Given the description of an element on the screen output the (x, y) to click on. 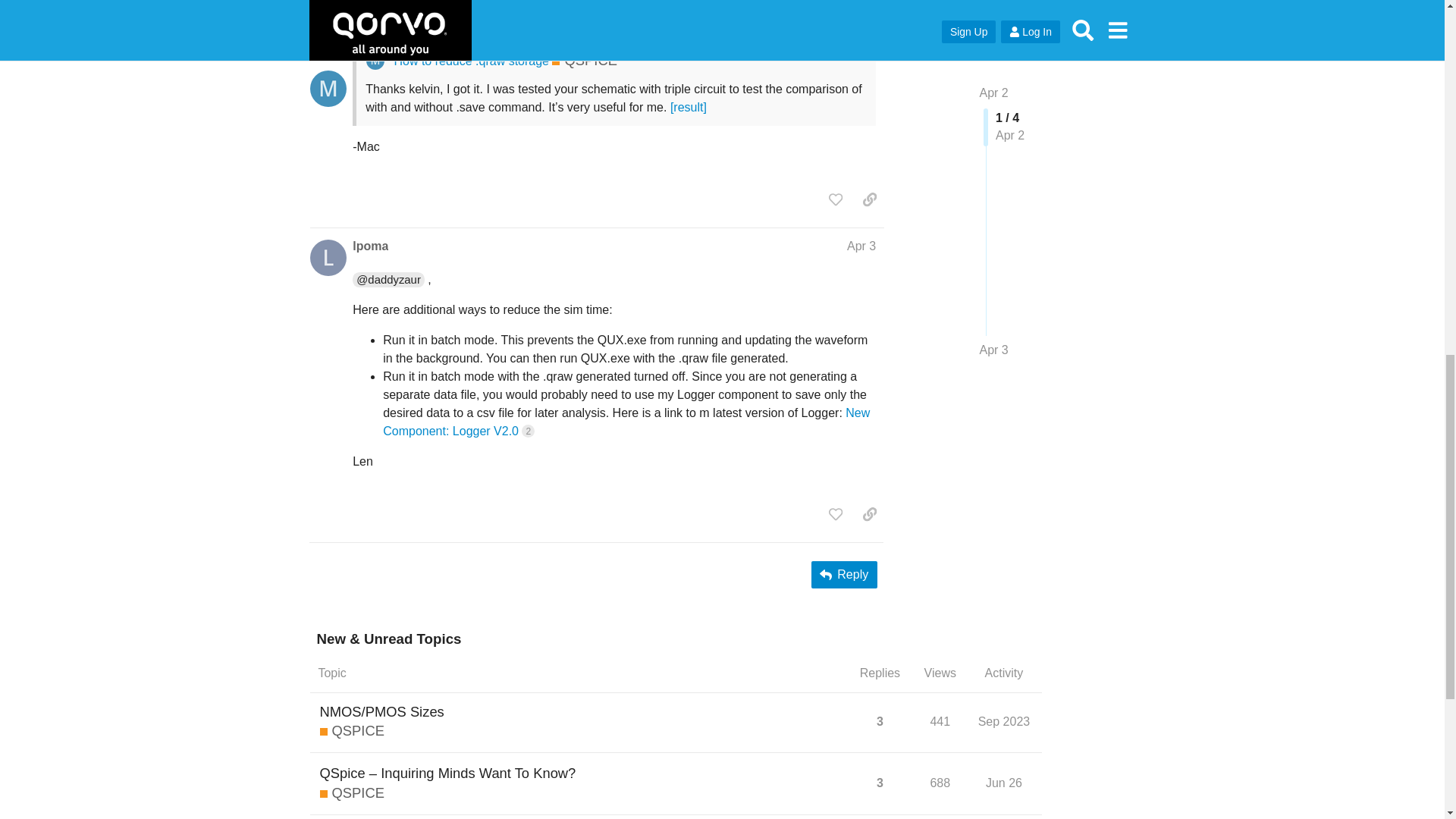
QSPICE (583, 60)
lpoma (370, 246)
How to reduce .qraw storage (470, 60)
Apr 3 (861, 245)
